Given the description of an element on the screen output the (x, y) to click on. 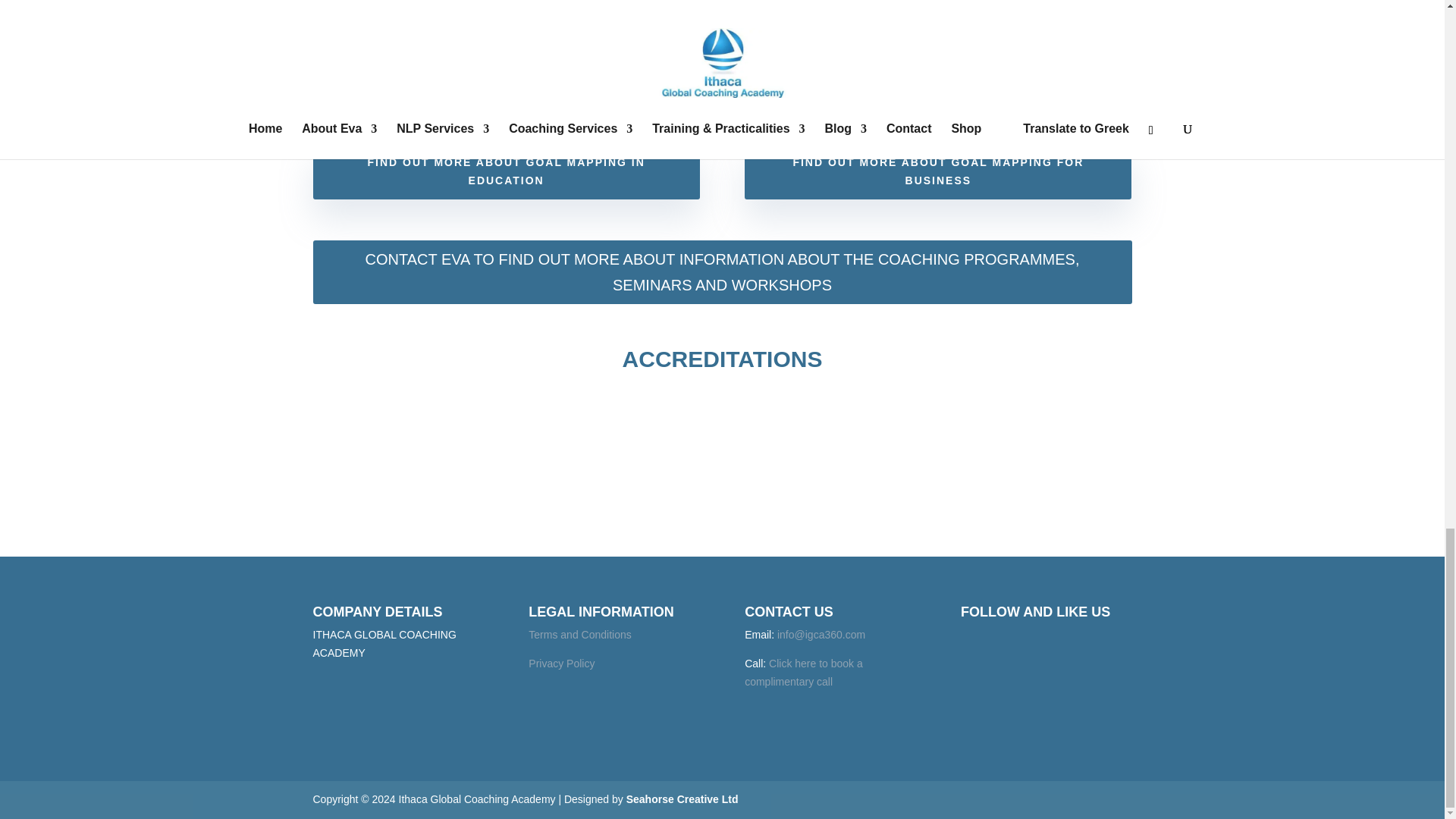
Accreditations (722, 527)
Terms and Conditions (579, 634)
Twitter (1012, 644)
Click here to book a complimentary call (803, 672)
FIND OUT MORE ABOUT GOAL MAPPING IN EDUCATION (505, 171)
Privacy Policy (561, 663)
Facebook (978, 644)
FIND OUT MORE ABOUT GOAL MAPPING FOR BUSINESS (937, 171)
LinkedIn (1047, 644)
